Given the description of an element on the screen output the (x, y) to click on. 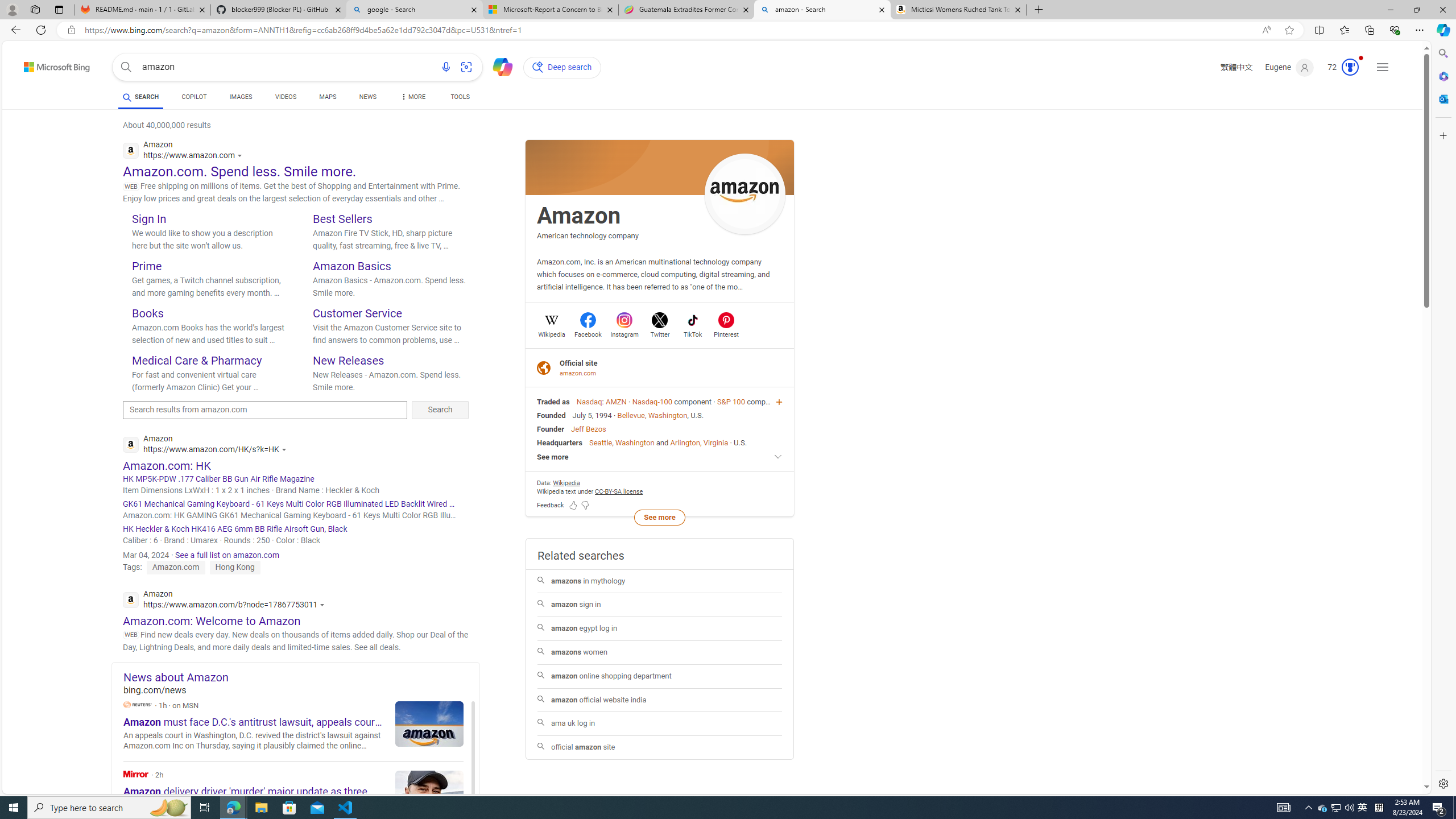
See more (659, 516)
Amazon.com. Spend less. Smile more. (239, 170)
Chat (497, 65)
See more images of Amazon (745, 193)
Founded (551, 415)
Jeff Bezos (587, 429)
amazon sign in (659, 604)
